Given the description of an element on the screen output the (x, y) to click on. 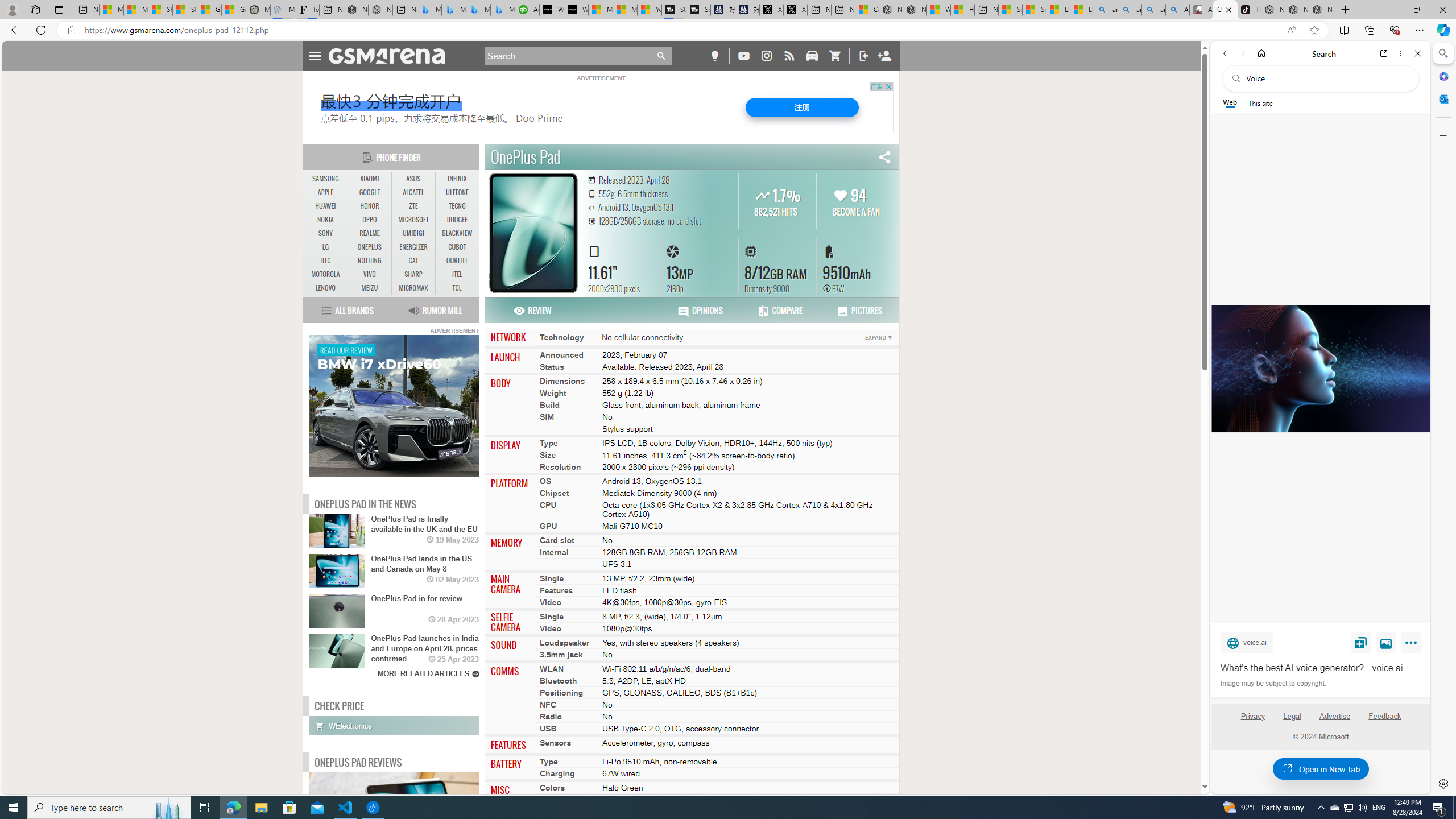
NOKIA (325, 219)
XIAOMI (369, 178)
Save (1361, 642)
ASUS (413, 178)
Huge shark washes ashore at New York City beach | Watch (962, 9)
Microsoft Bing Travel - Stays in Bangkok, Bangkok, Thailand (453, 9)
USB (548, 728)
HTC (325, 260)
Home (1261, 53)
